Given the description of an element on the screen output the (x, y) to click on. 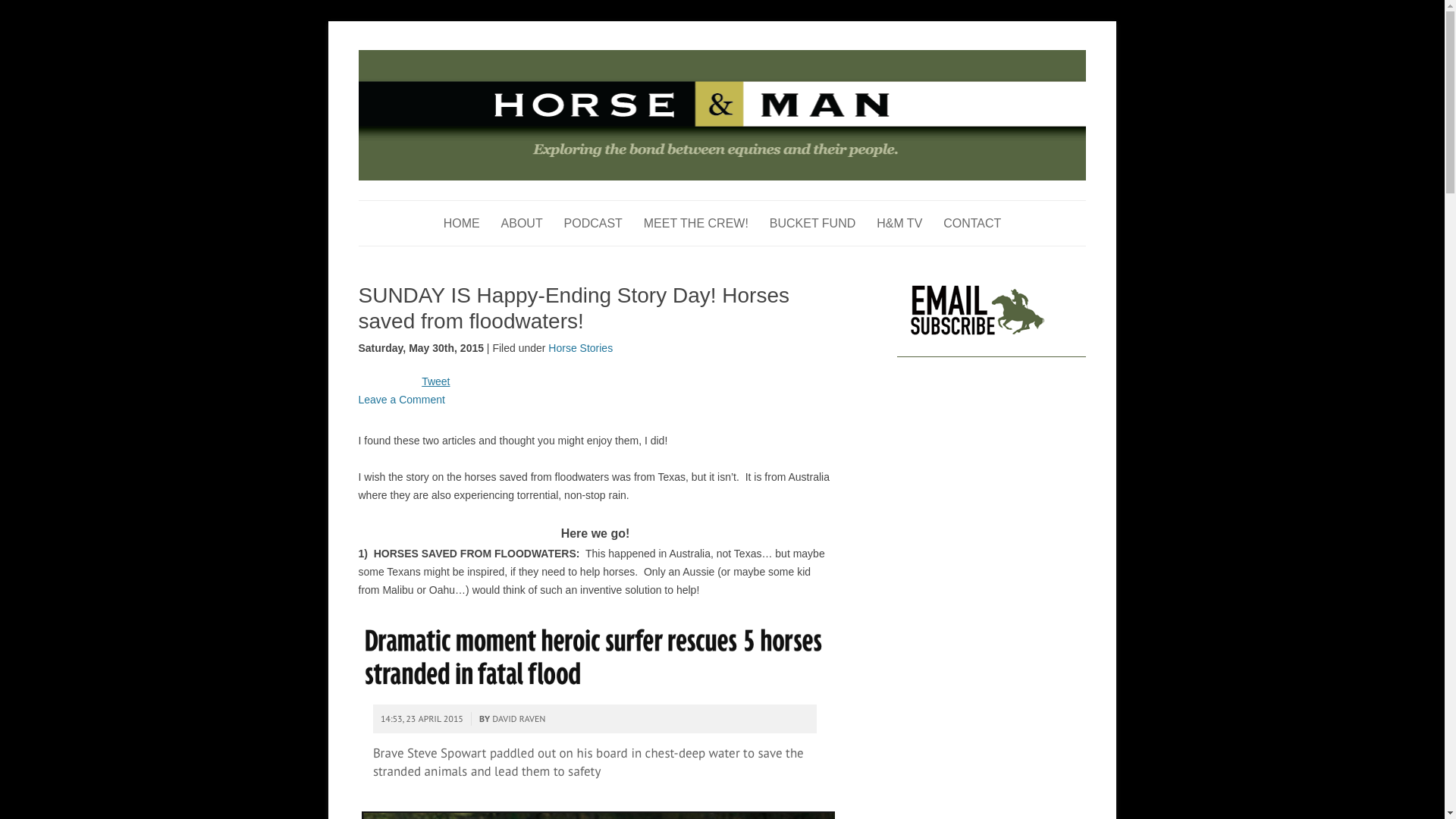
Horse and Man (428, 57)
Horse and Man (428, 57)
CONTACT (972, 222)
BUCKET FUND (813, 222)
About Horse and Man (521, 222)
Meet the Horse and Man Crew (695, 222)
PODCAST (593, 222)
Skip to content (757, 204)
The Drop in the Bucket Fund Story (813, 222)
MEET THE CREW! (695, 222)
